Given the description of an element on the screen output the (x, y) to click on. 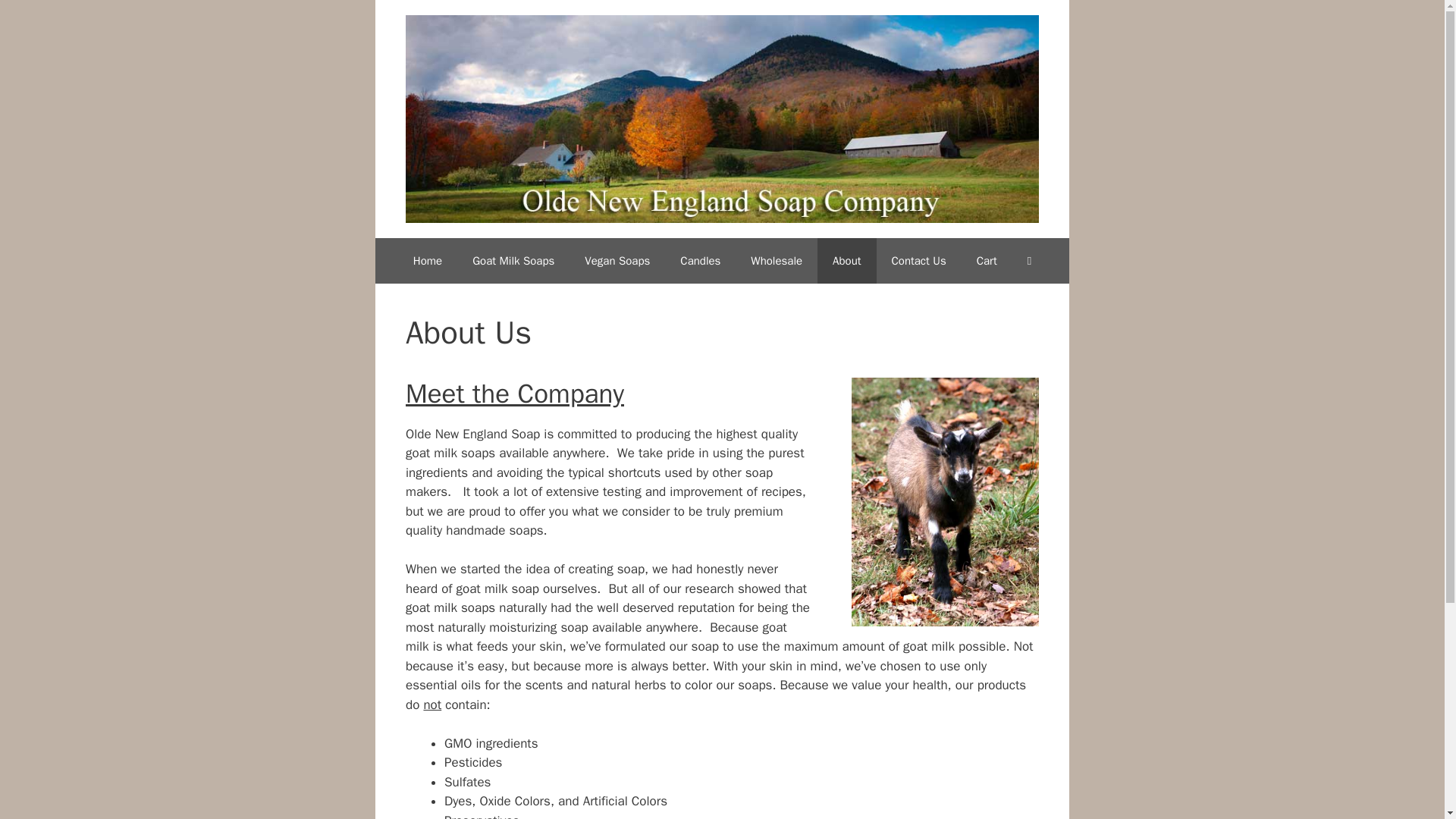
Contact Olde NE Soap (918, 260)
About (846, 260)
Contact Us (918, 260)
Shopping Cart (985, 260)
Wholesale (775, 260)
Vegan Soaps (617, 260)
View all Goat Milk Soaps (513, 260)
Candles (700, 260)
Goat Milk Soaps (513, 260)
Home (427, 260)
